Given the description of an element on the screen output the (x, y) to click on. 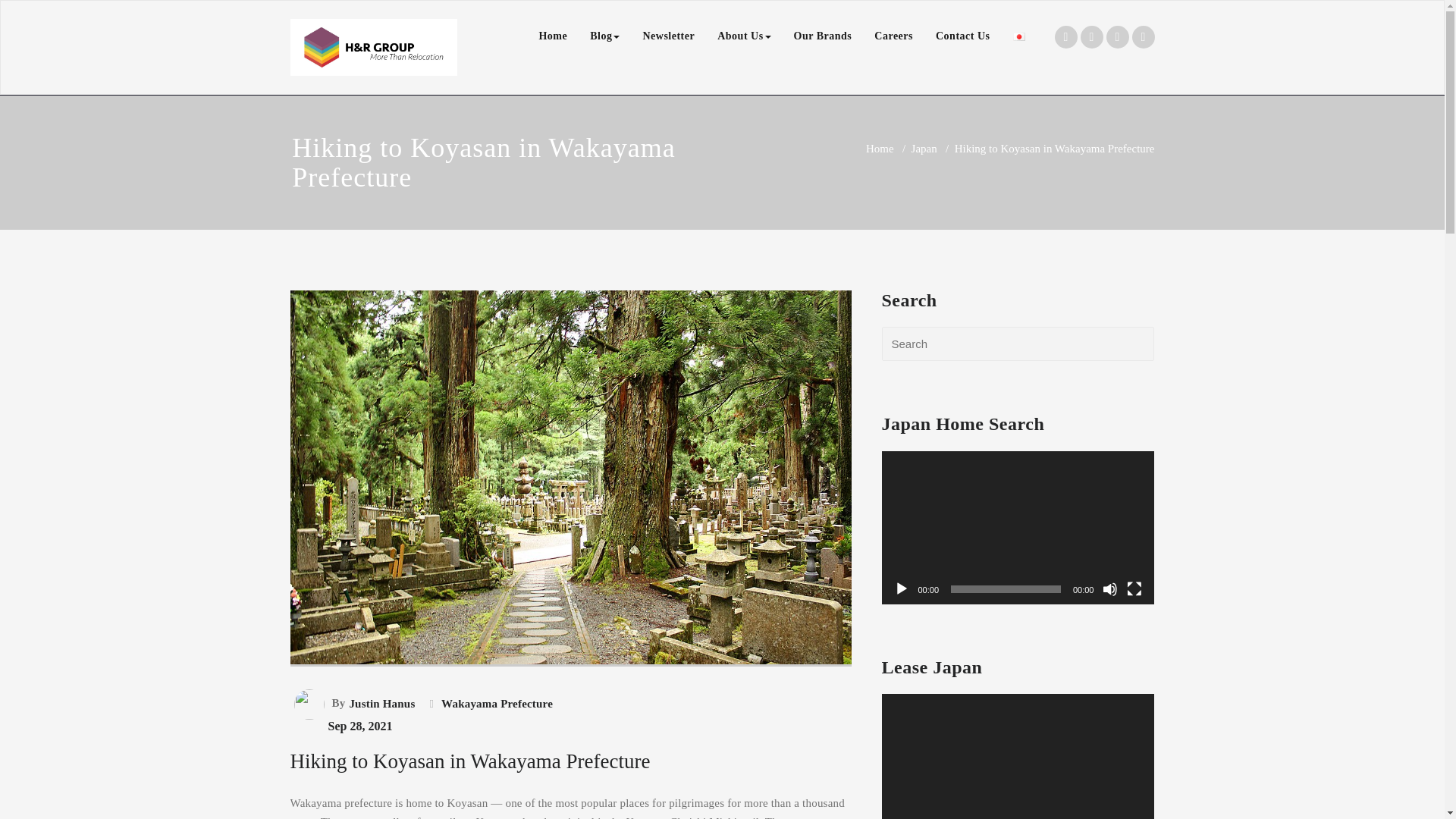
Hiking to Koyasan in Wakayama Prefecture (469, 761)
Wakayama Prefecture (495, 703)
Careers (893, 36)
Mute (1110, 589)
Blog (604, 36)
Our Brands (823, 36)
Home (879, 148)
Contact Us (962, 36)
Fullscreen (1133, 589)
Japan (924, 148)
